Given the description of an element on the screen output the (x, y) to click on. 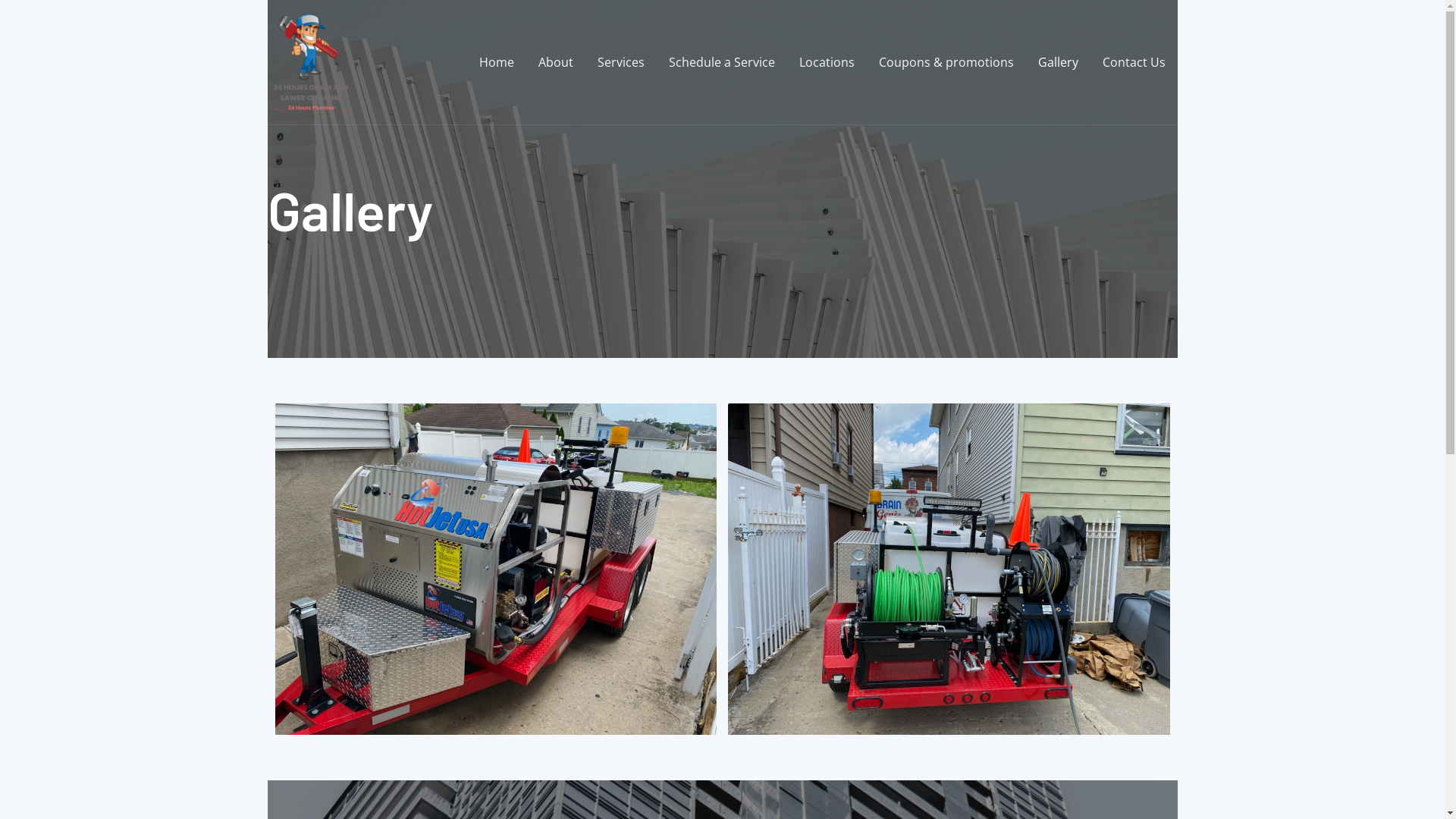
Services Element type: text (620, 61)
Home Element type: text (496, 61)
Locations Element type: text (826, 61)
About Element type: text (555, 61)
Contact Us Element type: text (1133, 61)
Gallery Element type: text (1057, 61)
Coupons & promotions Element type: text (945, 61)
Schedule a Service Element type: text (721, 61)
